Given the description of an element on the screen output the (x, y) to click on. 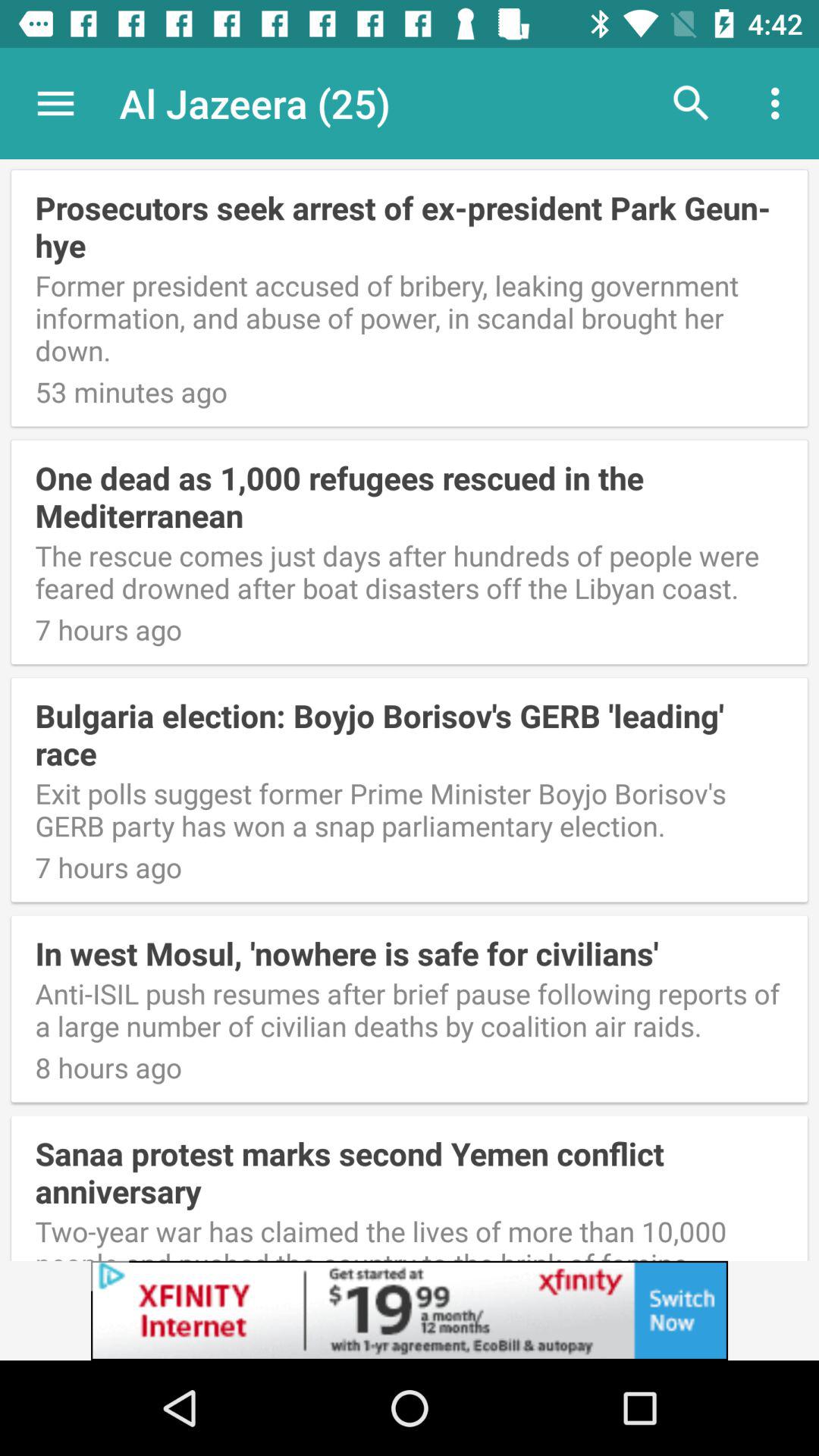
turn off icon next to the al jazeera (25) icon (691, 103)
